Given the description of an element on the screen output the (x, y) to click on. 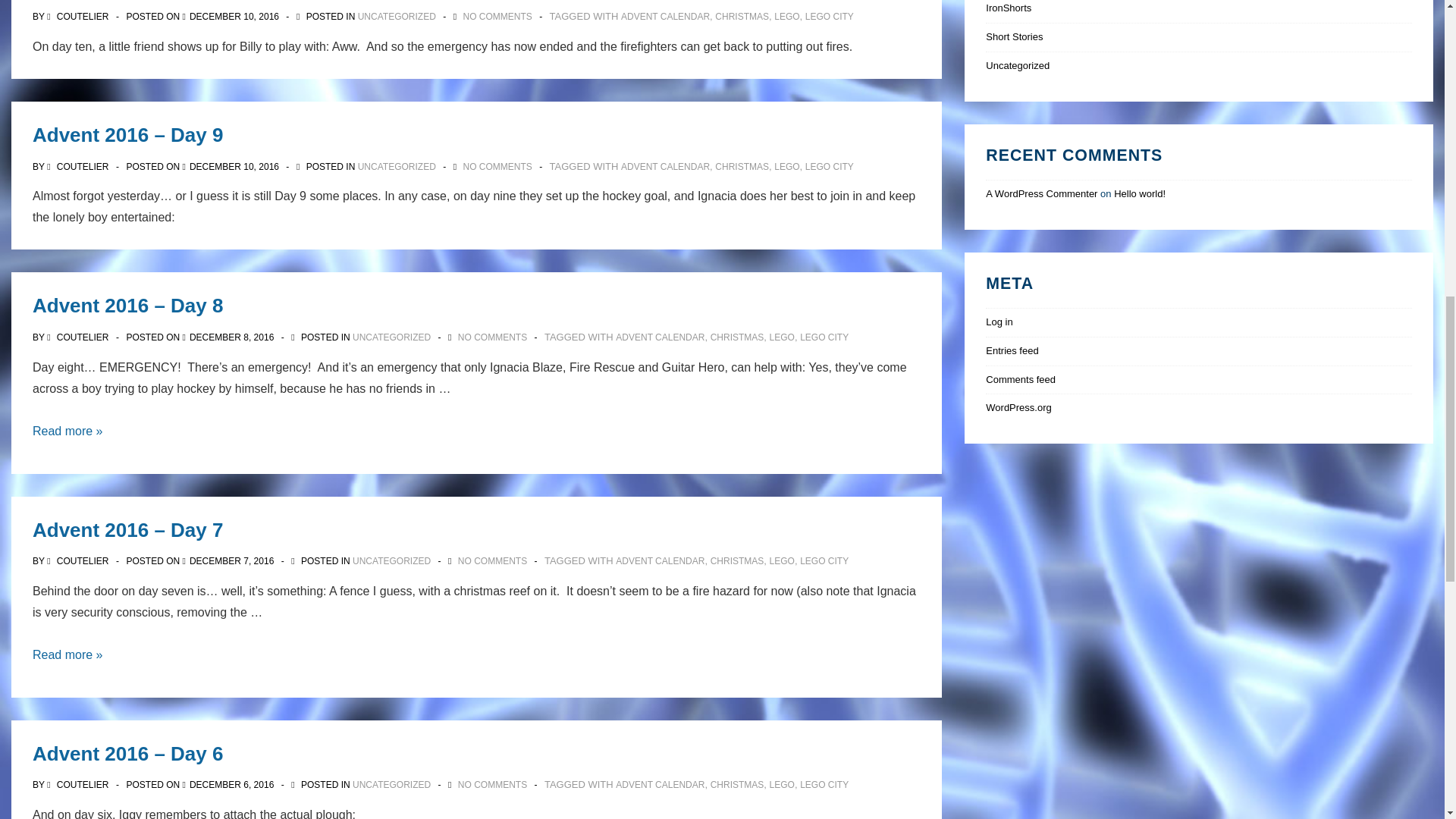
View all posts by Coutelier (79, 16)
View all posts by Coutelier (79, 337)
View all posts by Coutelier (79, 165)
COUTELIER (79, 16)
View all posts by Coutelier (79, 561)
View all posts by Coutelier (79, 784)
